Given the description of an element on the screen output the (x, y) to click on. 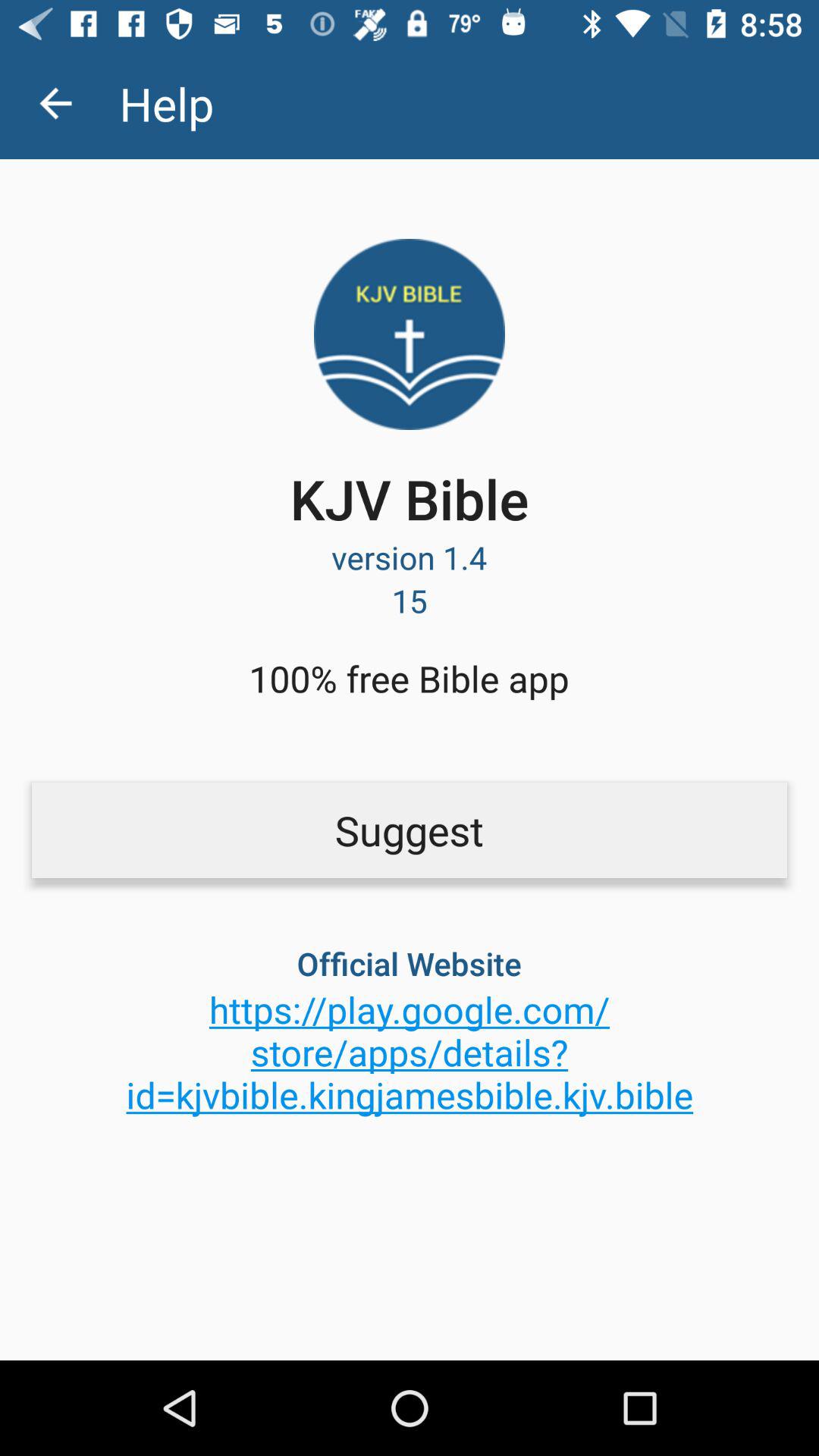
swipe until https play google item (409, 1052)
